Given the description of an element on the screen output the (x, y) to click on. 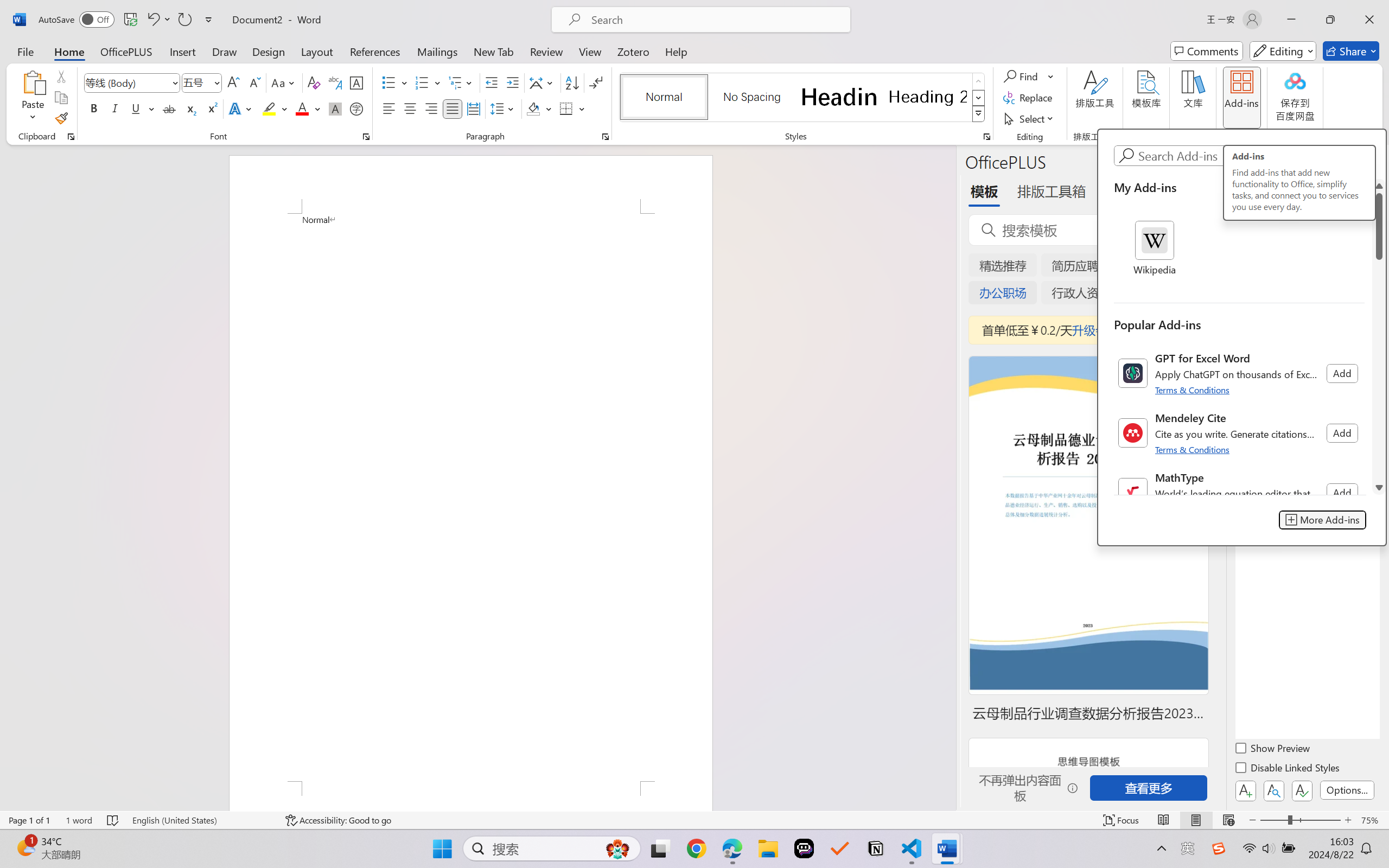
Line and Paragraph Spacing (503, 108)
Office Clipboard... (70, 136)
Accessibility Checker Accessibility: Good to go (338, 819)
Align Left (388, 108)
Font Color (308, 108)
GPT for Excel Word (1239, 373)
Shrink Font (253, 82)
Enclose Characters... (356, 108)
Language English (United States) (201, 819)
Select (1030, 118)
Undo Apply Quick Style (152, 19)
